Given the description of an element on the screen output the (x, y) to click on. 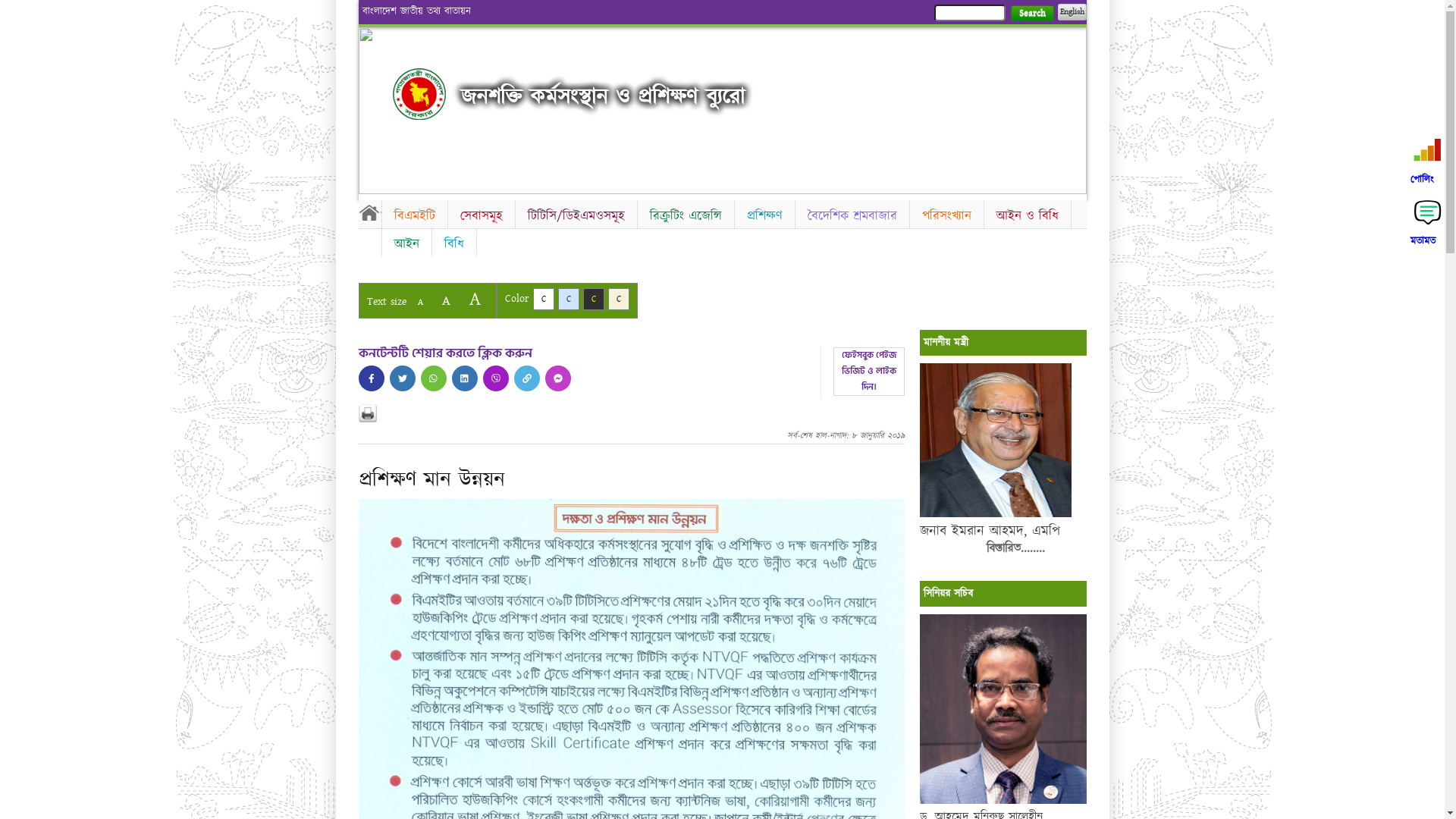
C Element type: text (568, 299)
C Element type: text (542, 299)
A Element type: text (474, 298)
C Element type: text (618, 299)
A Element type: text (445, 300)
A Element type: text (419, 301)
English Element type: text (1071, 11)
Home Element type: hover (418, 93)
Search Element type: text (1031, 13)
Home Element type: hover (368, 211)
C Element type: text (592, 299)
